Given the description of an element on the screen output the (x, y) to click on. 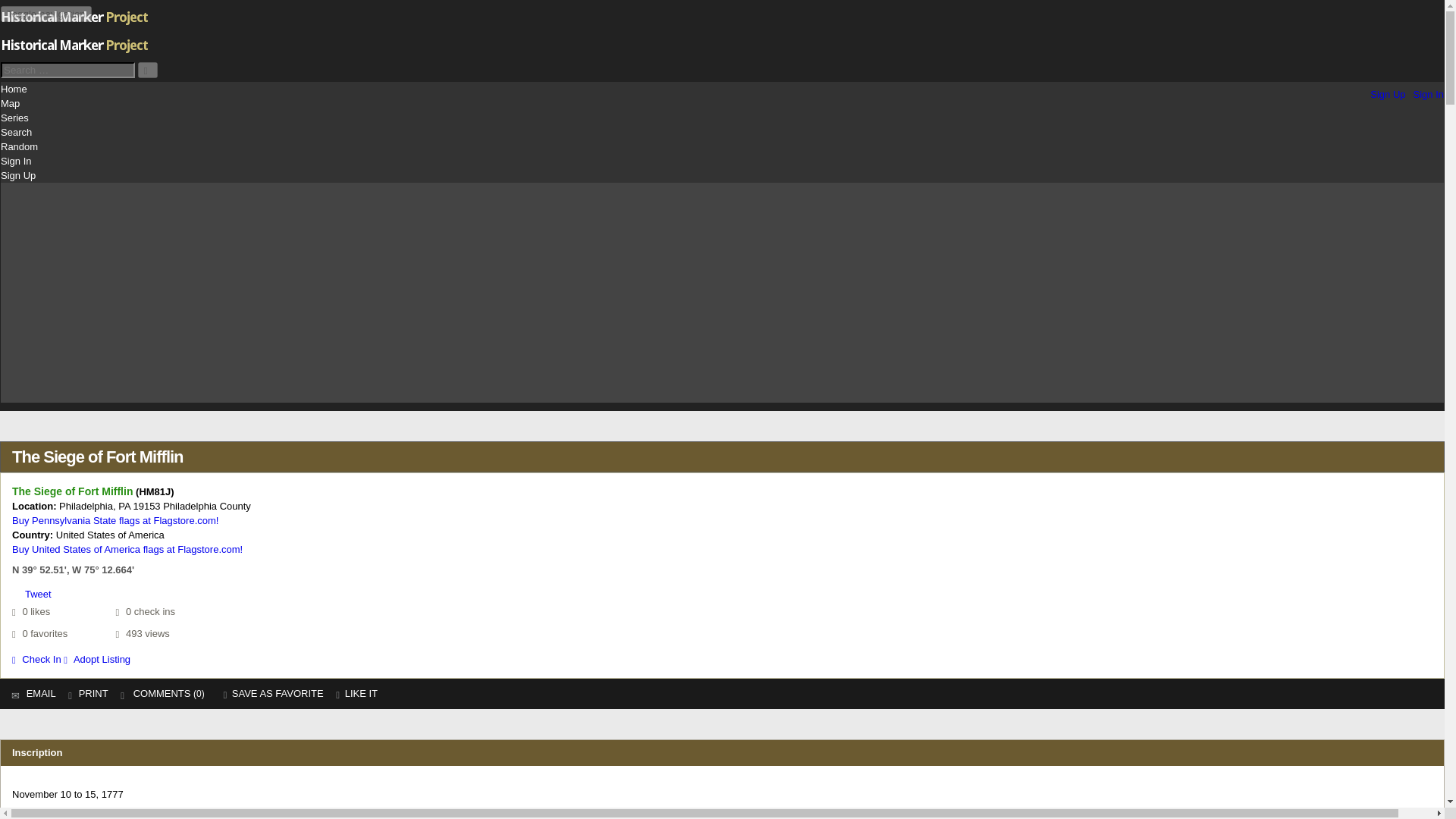
Historical Marker Project (76, 28)
Series (15, 117)
Sign Up (17, 175)
Sign Up (1387, 93)
Check In (36, 659)
Sign In (15, 160)
Historical Marker Project (76, 48)
Map (10, 103)
Search (16, 131)
COMMENTS (156, 693)
Sign Up (17, 175)
Adopt Listing (97, 659)
Map (10, 103)
Buy Pennsylvania State flags at Flagstore.com! (114, 520)
